Given the description of an element on the screen output the (x, y) to click on. 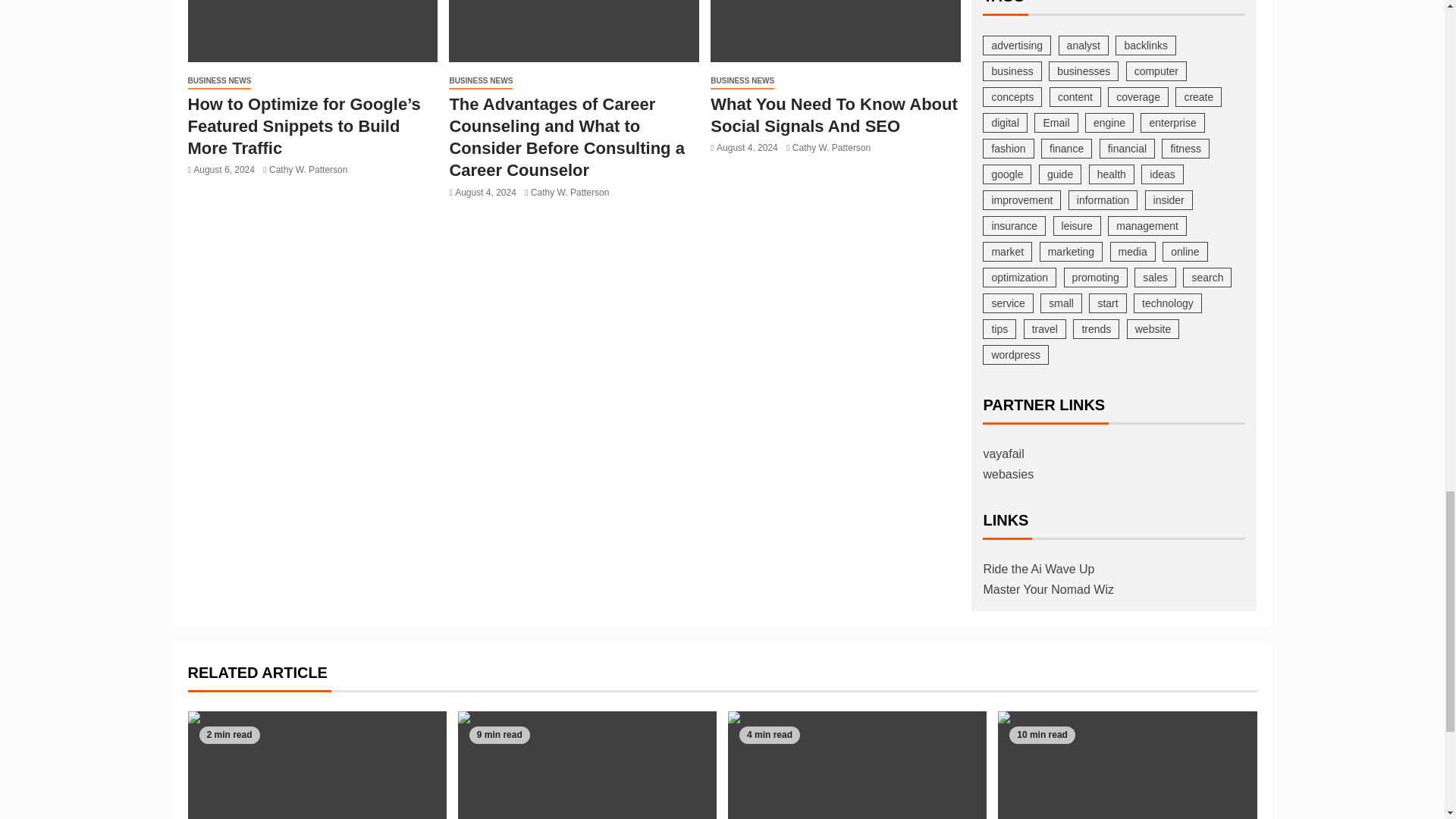
What You Need To Know About Social Signals And SEO (835, 31)
BUSINESS NEWS (219, 81)
Cathy W. Patterson (308, 169)
